Given the description of an element on the screen output the (x, y) to click on. 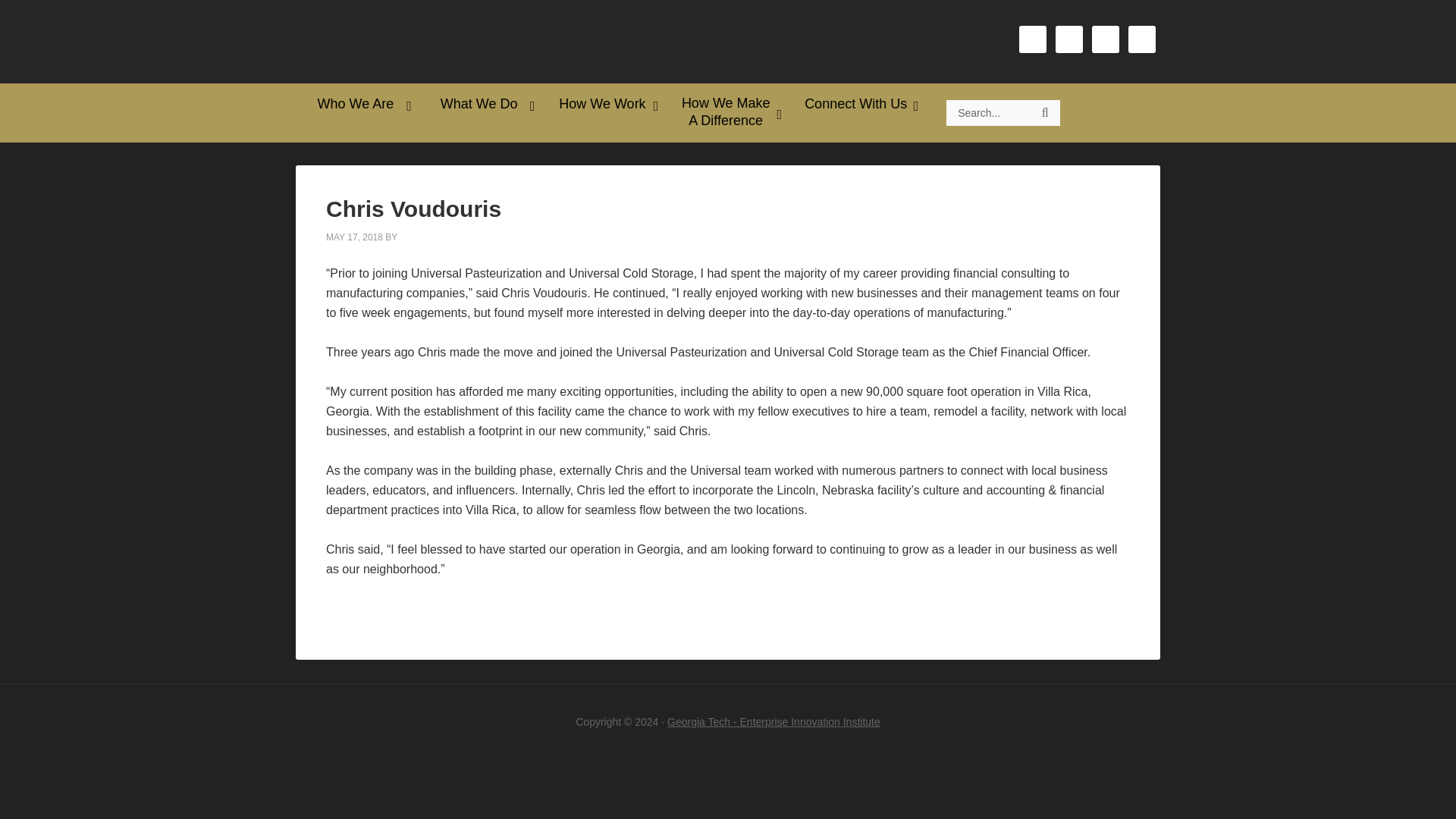
How We Make A Difference (727, 112)
How We Work (604, 103)
Connect With Us (857, 103)
What We Do (481, 103)
Who We Are (357, 103)
Georgia Tech - Enterprise Innovation Institute (773, 721)
